Given the description of an element on the screen output the (x, y) to click on. 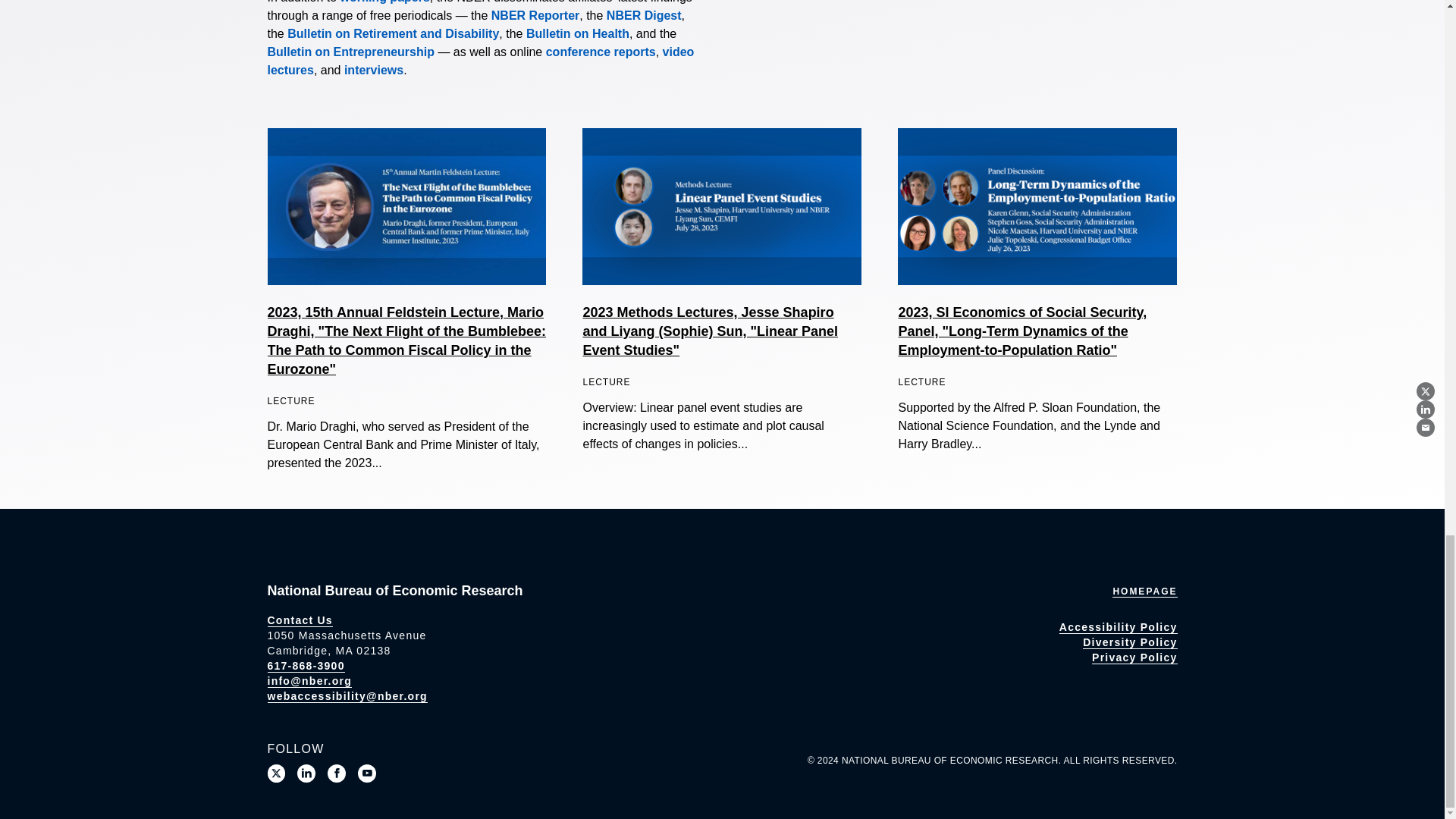
Working Papers (384, 2)
Lectures (480, 60)
Research Spotlights (373, 69)
Conferences (601, 51)
